Given the description of an element on the screen output the (x, y) to click on. 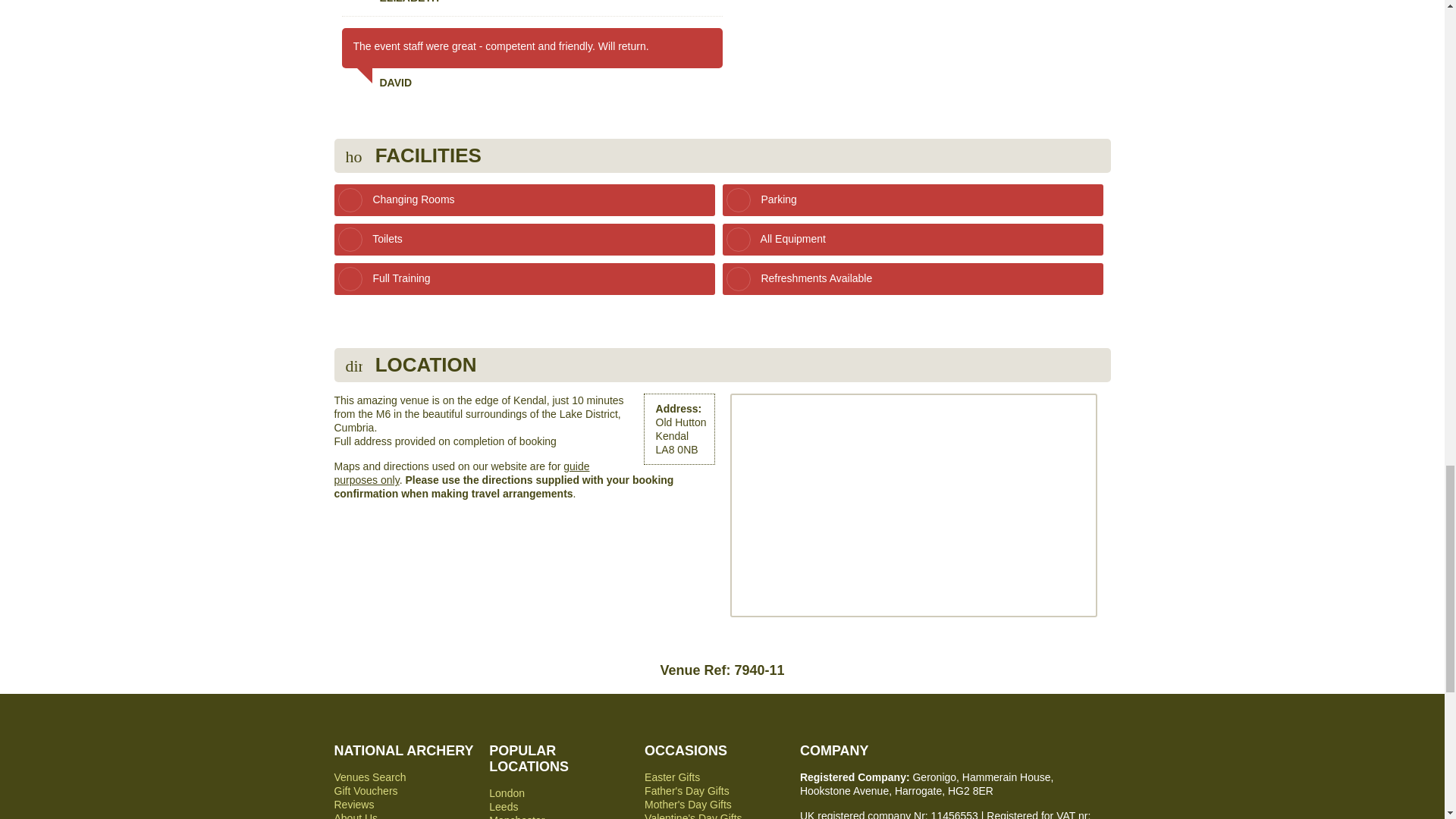
Reviews (353, 804)
About Us (355, 815)
Reviews (353, 804)
Venues Search (369, 776)
Gift Vouchers (365, 790)
DAVID (531, 78)
ELIZABETH (531, 2)
Gift Vouchers (365, 790)
Venues Search (369, 776)
About Us (355, 815)
